Given the description of an element on the screen output the (x, y) to click on. 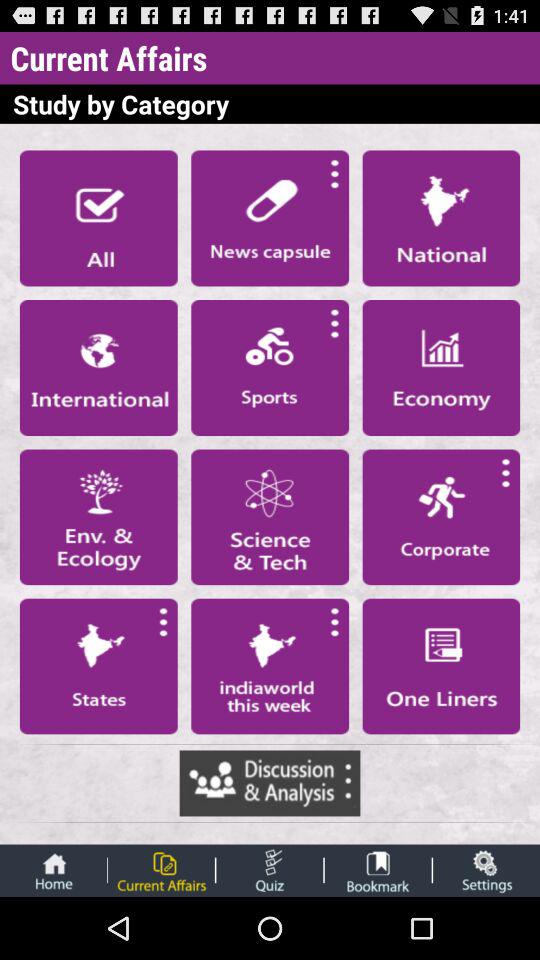
open curent affairs category (161, 870)
